Given the description of an element on the screen output the (x, y) to click on. 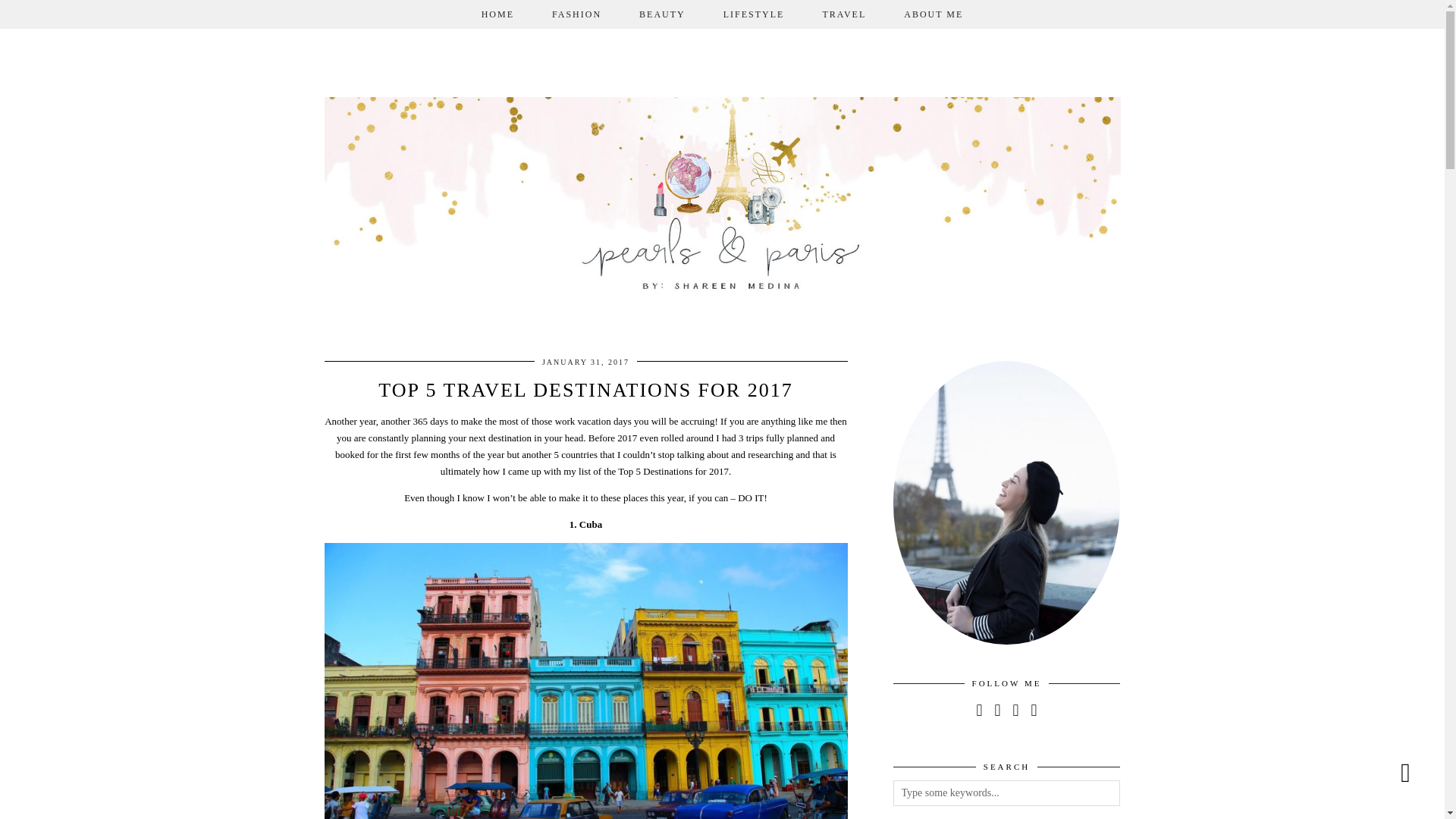
TRAVEL (844, 14)
LIFESTYLE (753, 14)
HOME (497, 14)
FASHION (576, 14)
BEAUTY (662, 14)
ABOUT ME (933, 14)
